Given the description of an element on the screen output the (x, y) to click on. 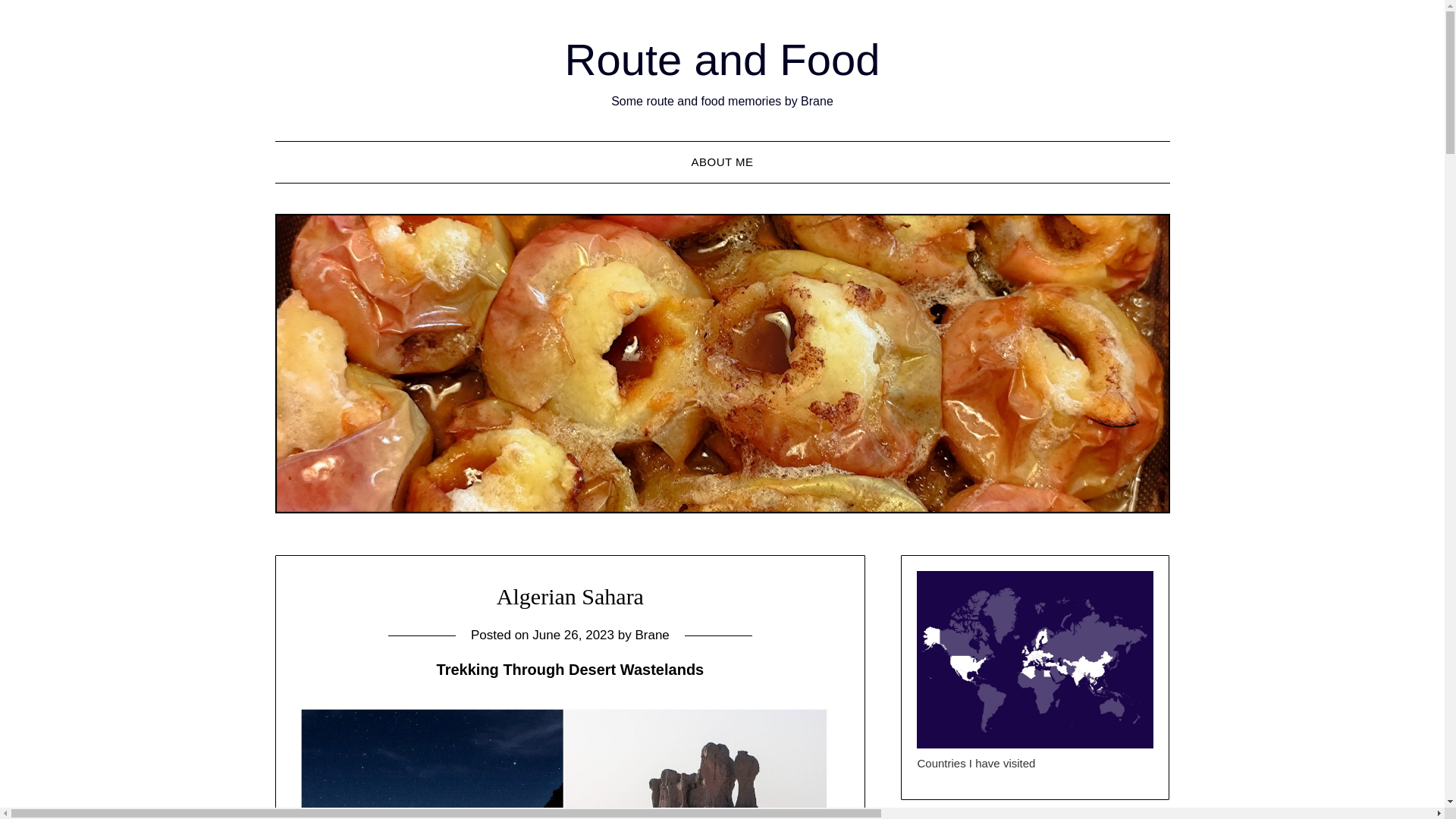
June 26, 2023 (573, 635)
ABOUT ME (721, 161)
Brane (651, 635)
COUNTRIES I HAVE V (1035, 659)
Route and Food (722, 59)
